Given the description of an element on the screen output the (x, y) to click on. 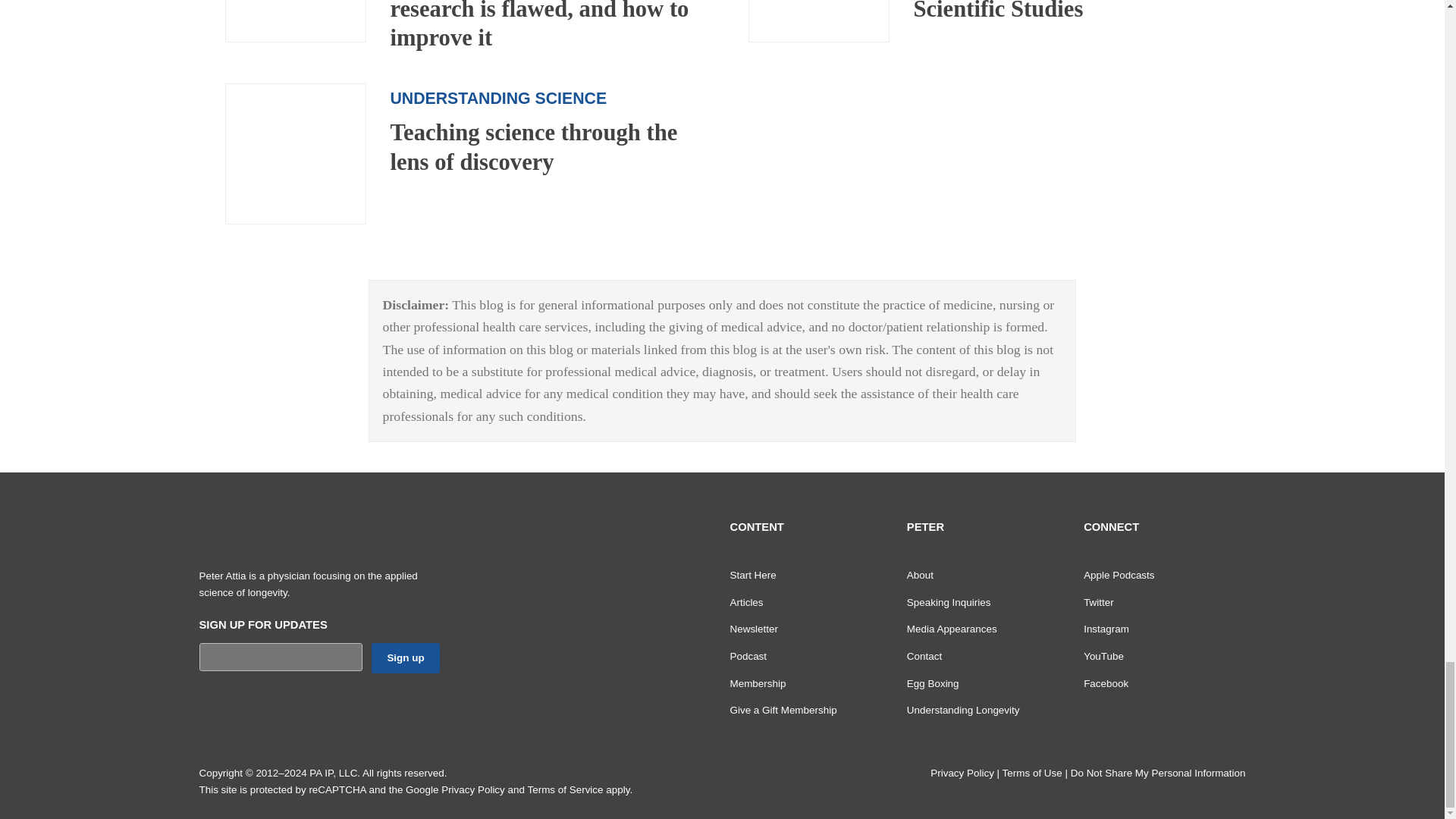
Peter Attia (289, 534)
Sign up (405, 657)
